Given the description of an element on the screen output the (x, y) to click on. 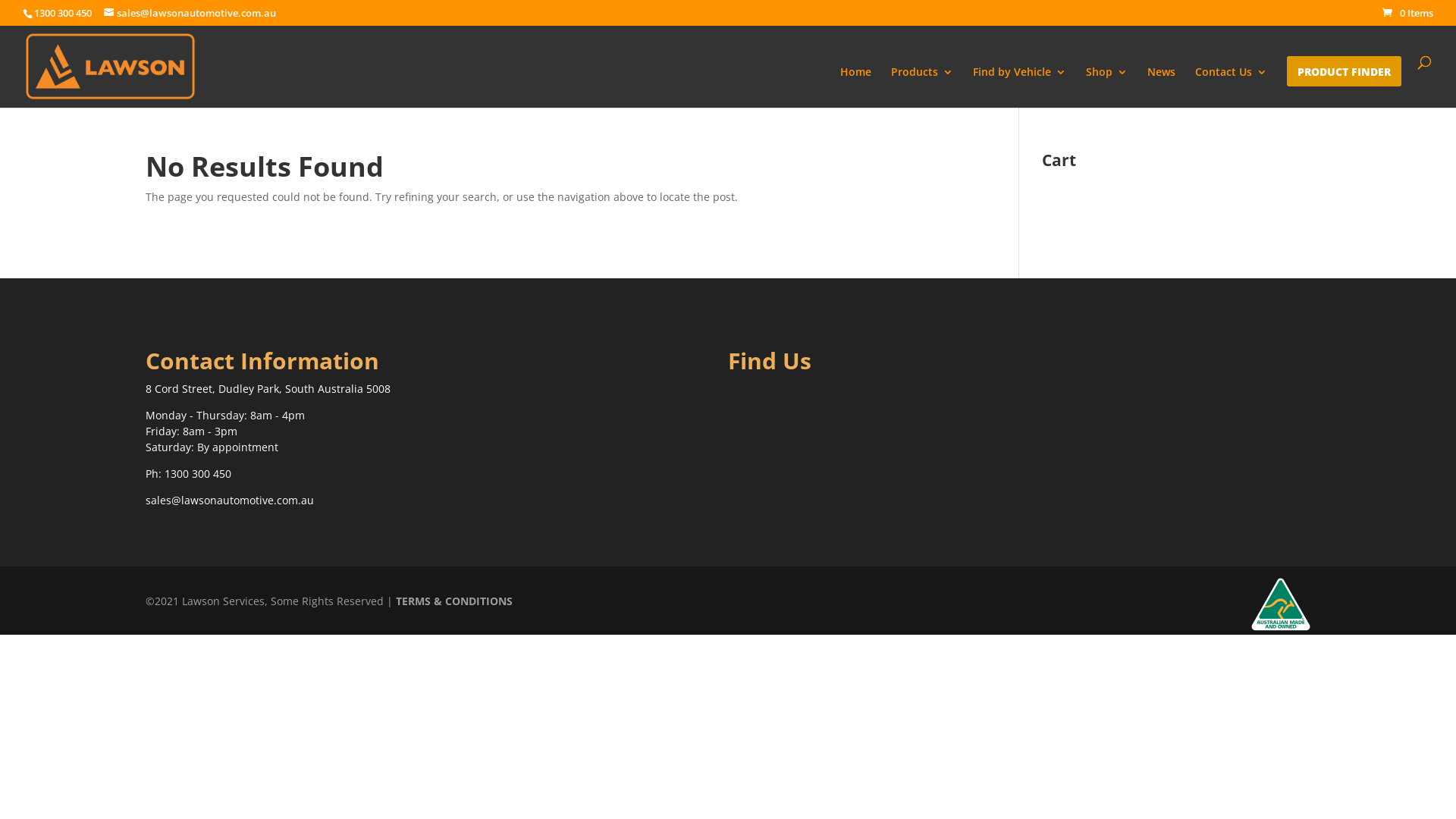
1300 300 450 Element type: text (197, 473)
Contact Us Element type: text (1231, 86)
sales@lawsonautomotive.com.au Element type: text (229, 499)
sales@lawsonautomotive.com.au Element type: text (189, 12)
Find by Vehicle Element type: text (1019, 86)
Shop Element type: text (1106, 86)
News Element type: text (1161, 86)
TERMS & CONDITIONS Element type: text (453, 600)
Home Element type: text (855, 86)
PRODUCT FINDER Element type: text (1343, 86)
0 Items Element type: text (1407, 12)
Products Element type: text (922, 86)
